Given the description of an element on the screen output the (x, y) to click on. 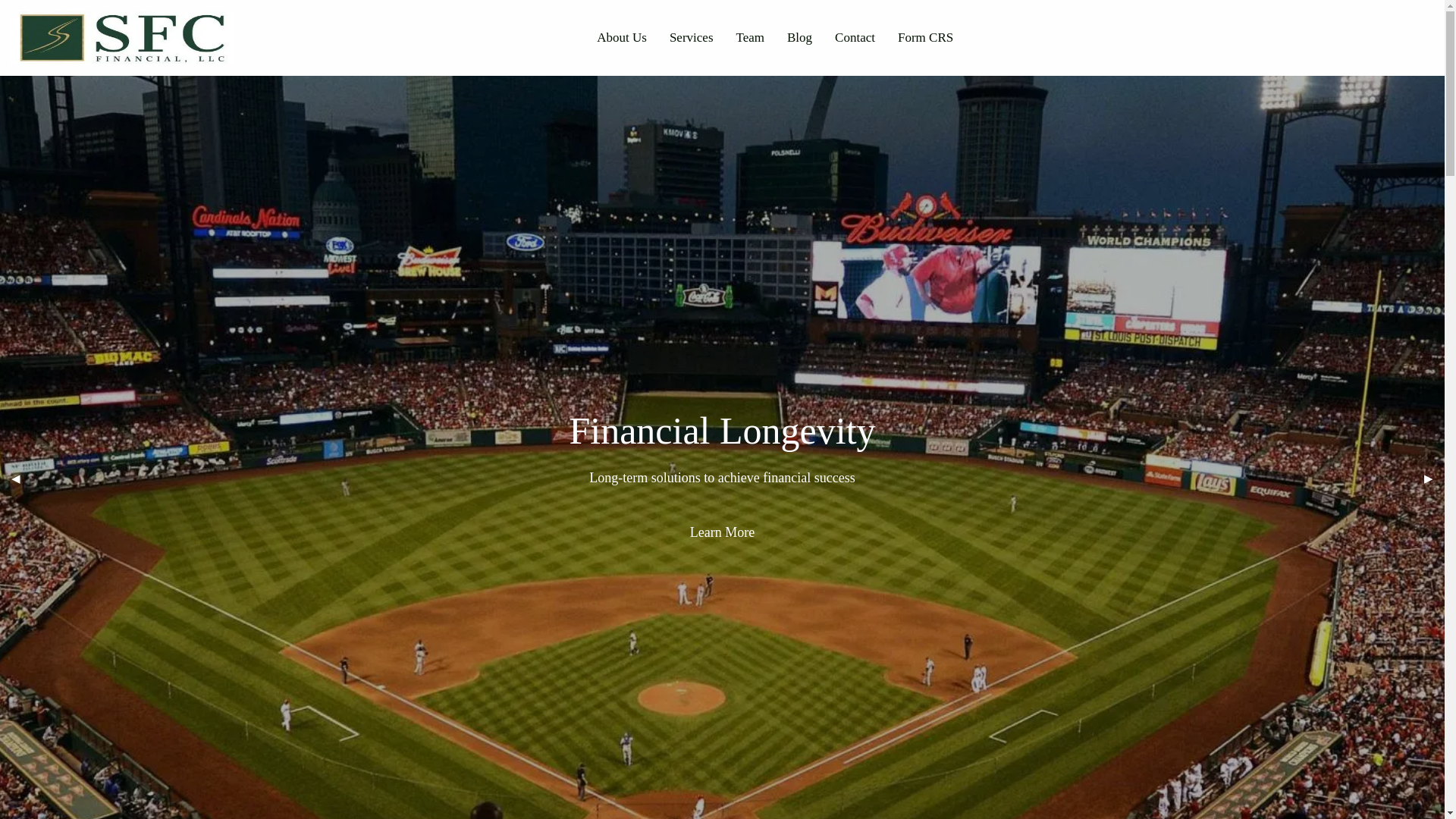
Team (750, 37)
Contact (855, 37)
Learn More (722, 533)
About Us (621, 37)
Form CRS (924, 37)
Blog (800, 37)
Services (691, 37)
Learn More (722, 533)
